Given the description of an element on the screen output the (x, y) to click on. 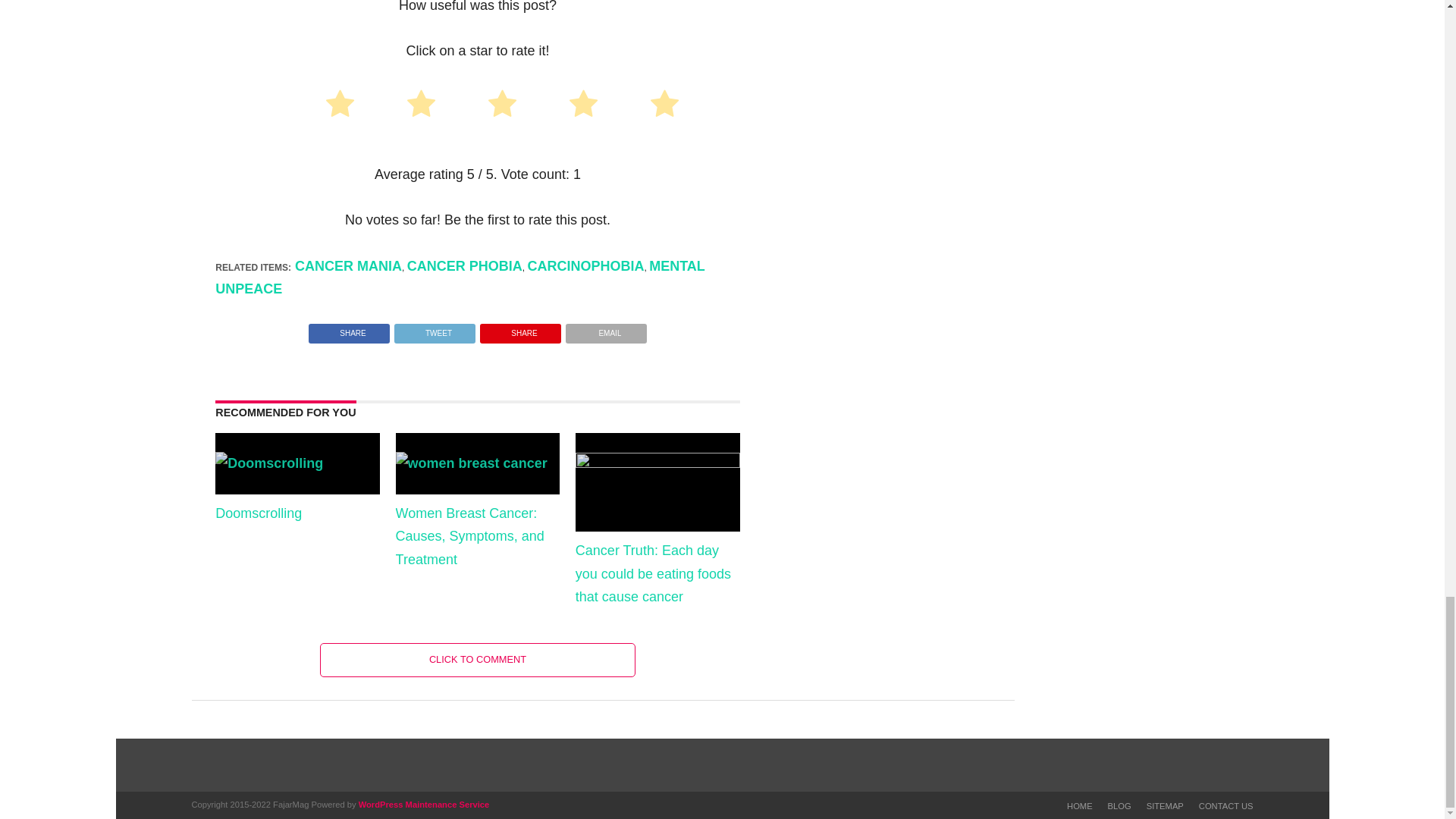
Tweet This Post (434, 335)
Pin This Post (520, 335)
Doomscrolling (269, 462)
SHARE (520, 335)
CANCER MANIA (348, 265)
MENTAL UNPEACE (459, 277)
CANCER PHOBIA (464, 265)
TWEET (434, 335)
SHARE (349, 335)
Share on Facebook (349, 335)
CARCINOPHOBIA (585, 265)
EMAIL (605, 335)
Women Breast Cancer: Causes, Symptoms, and Treatment (471, 462)
